Given the description of an element on the screen output the (x, y) to click on. 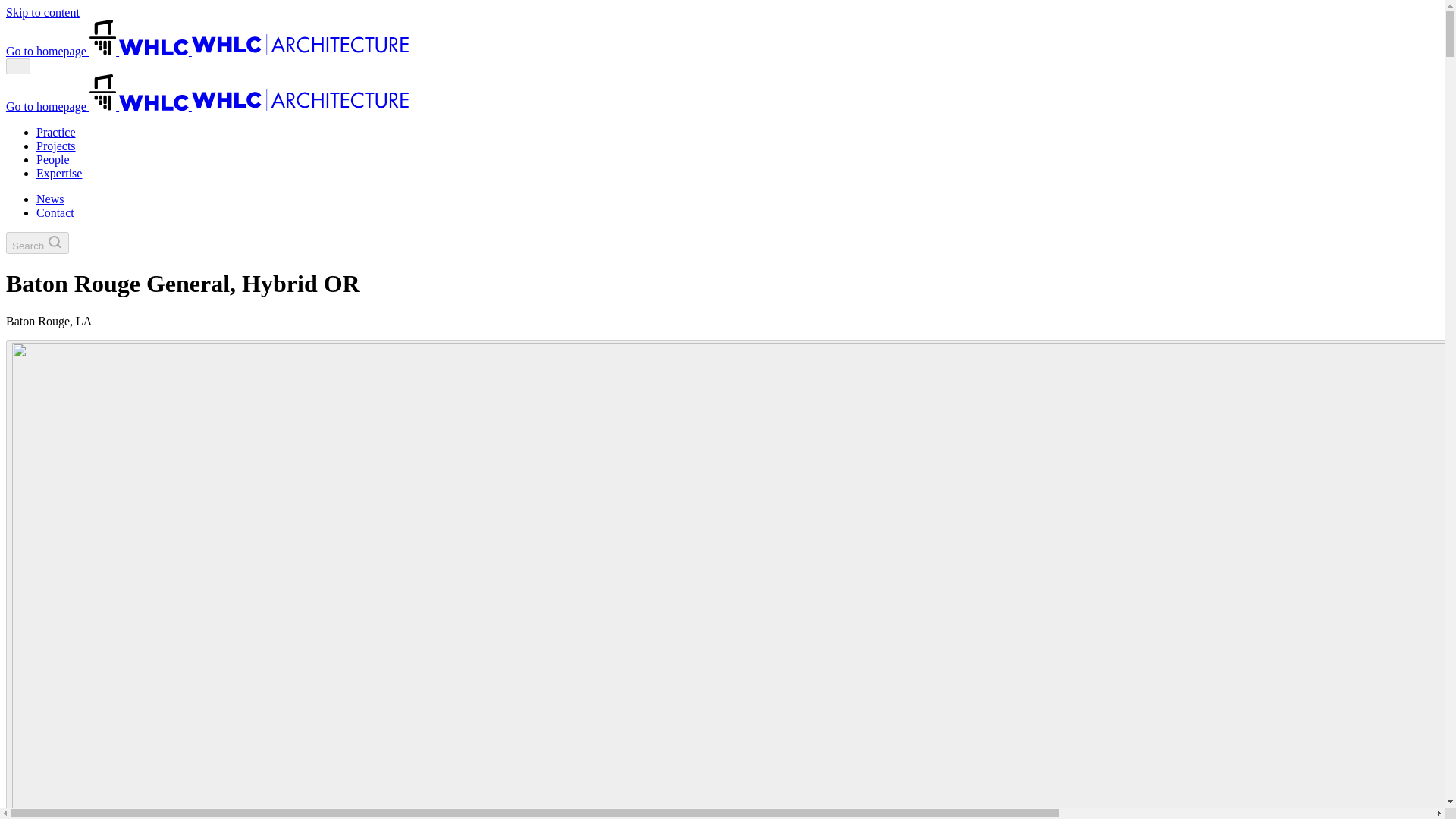
Menu toggle (17, 66)
People (52, 159)
Toggle Search (36, 242)
Practice (55, 132)
Skip to content (42, 11)
Expertise (58, 173)
Contact (55, 212)
Projects (55, 145)
News (50, 198)
Go to homepage (207, 51)
Search (36, 242)
Go to homepage (207, 106)
